Given the description of an element on the screen output the (x, y) to click on. 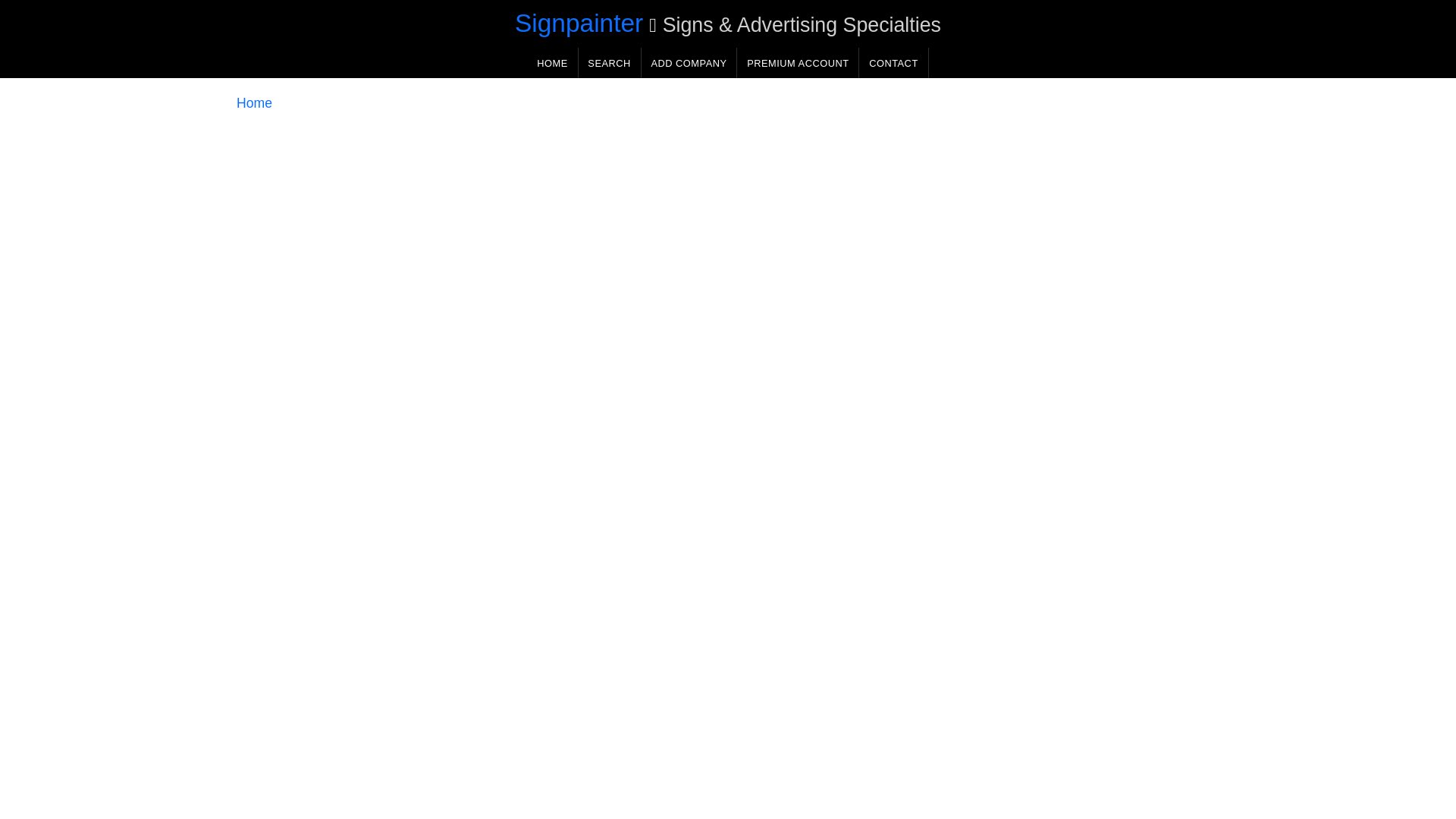
SEARCH (609, 62)
PREMIUM ACCOUNT (797, 62)
Home (253, 102)
Add a new company (689, 62)
HOME (551, 62)
Premium account (797, 62)
CONTACT (893, 62)
ADD COMPANY (689, 62)
Signpainter (579, 22)
Search in this webseite. (609, 62)
